Given the description of an element on the screen output the (x, y) to click on. 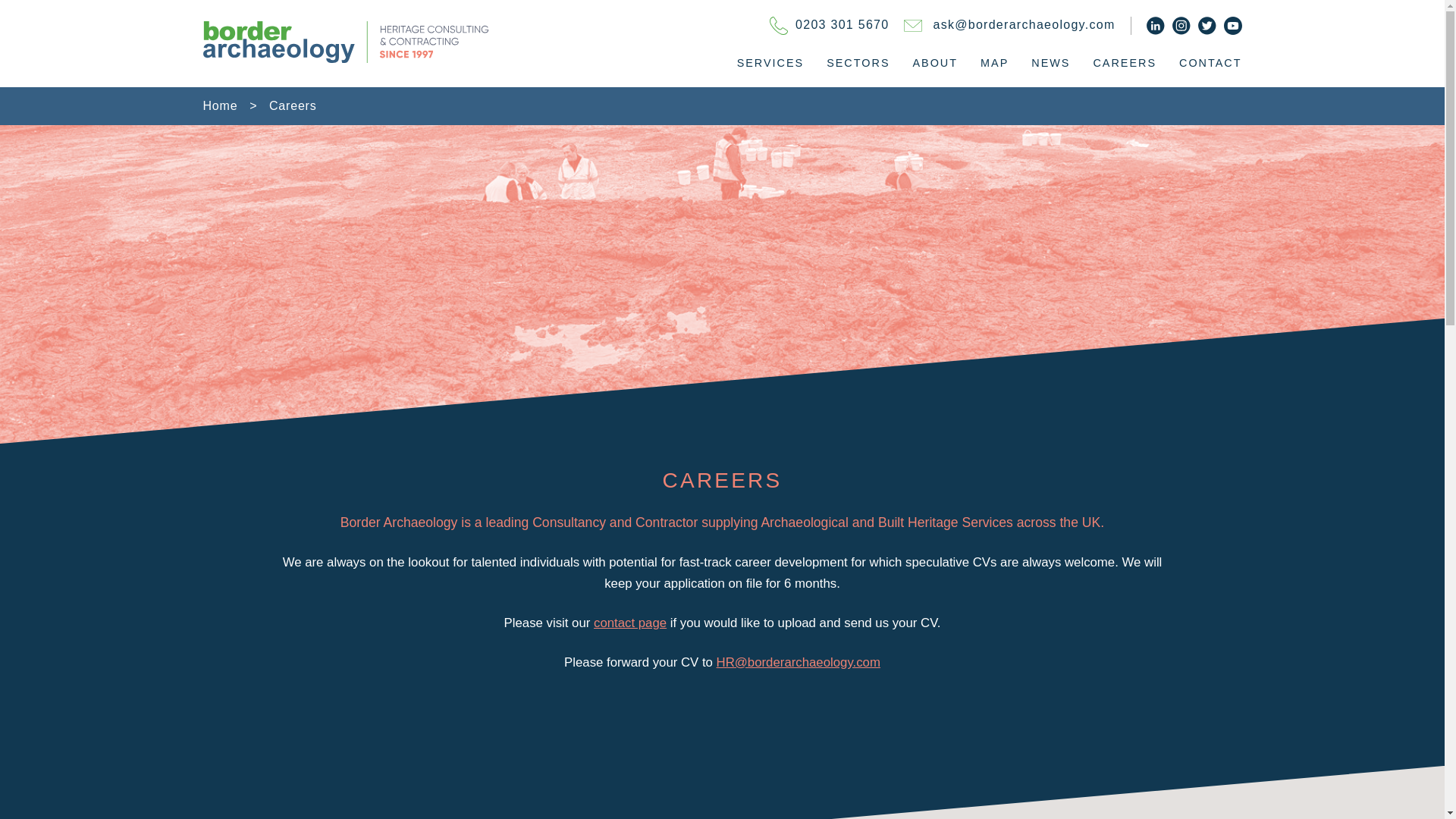
Go to Border Archaeology. (220, 105)
SERVICES (770, 62)
Go to Careers. (293, 105)
0203 301 5670 (829, 25)
